Given the description of an element on the screen output the (x, y) to click on. 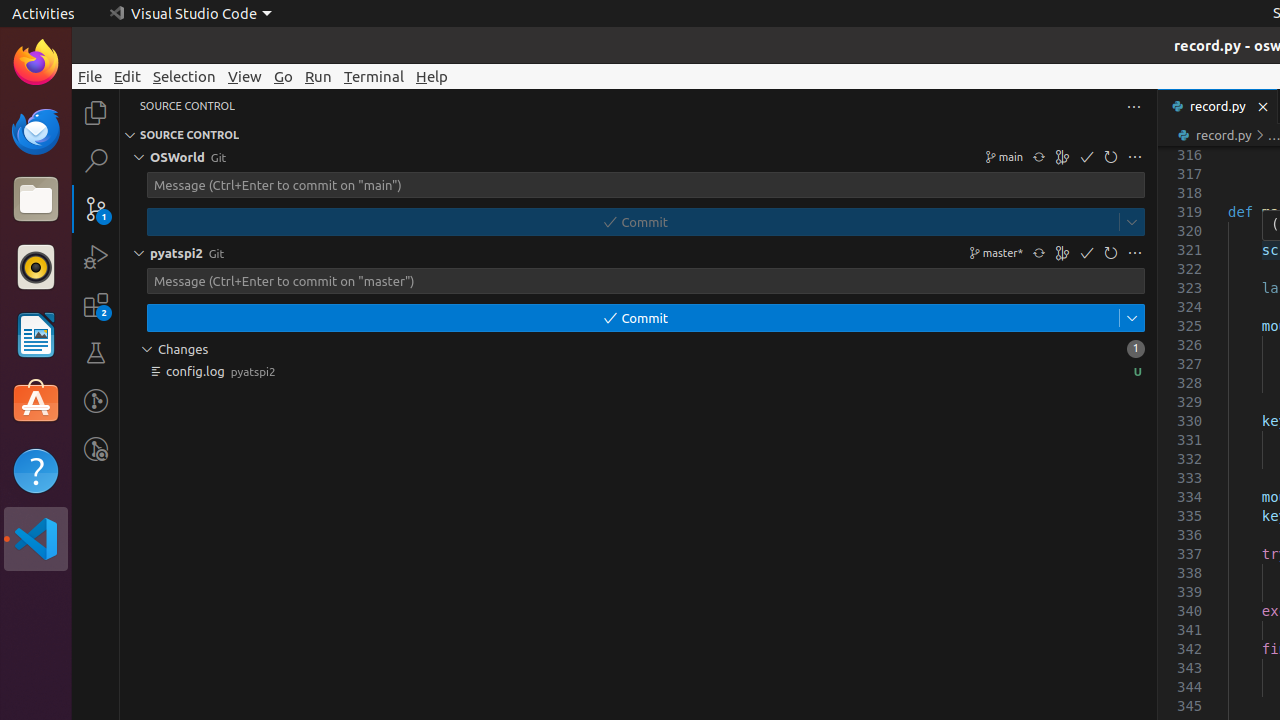
Terminal Element type: push-button (374, 76)
Source Control (Ctrl+Shift+G G) - 1 pending changes Element type: page-tab (96, 208)
Run Element type: push-button (318, 76)
Synchronize Changes Element type: push-button (1039, 253)
